Given the description of an element on the screen output the (x, y) to click on. 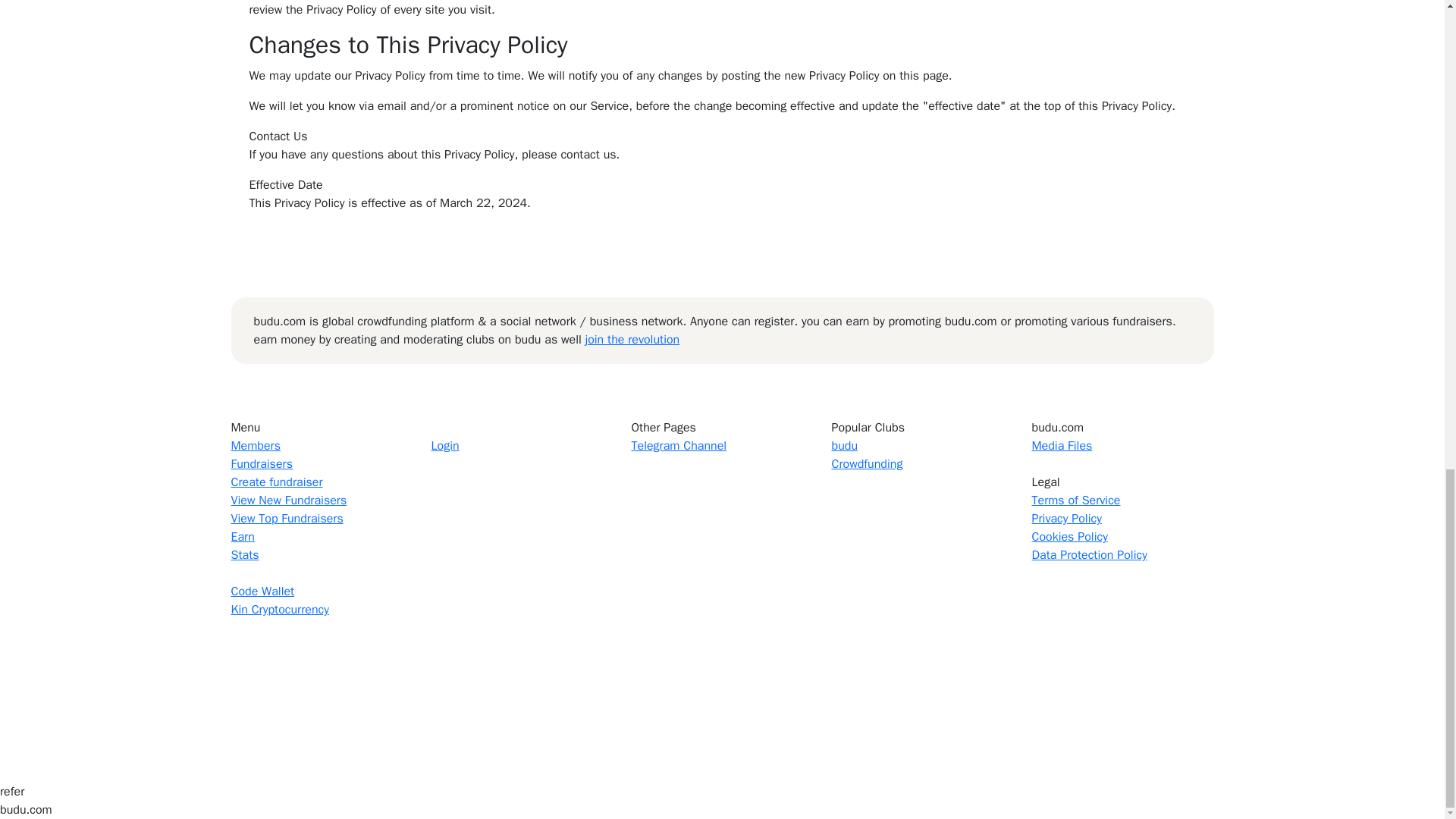
Data Protection Policy (1088, 554)
View Top Fundraisers (286, 518)
Crowdfunding (866, 463)
Cookies Policy (1068, 536)
Earn (241, 536)
Privacy Policy (1065, 518)
budu (844, 445)
Create fundraiser (275, 482)
Kin Cryptocurrency (279, 609)
Terms of Service (1074, 500)
View New Fundraisers (288, 500)
Code Wallet (262, 590)
Media Files (1061, 445)
Telegram Channel (678, 445)
Fundraisers (261, 463)
